Given the description of an element on the screen output the (x, y) to click on. 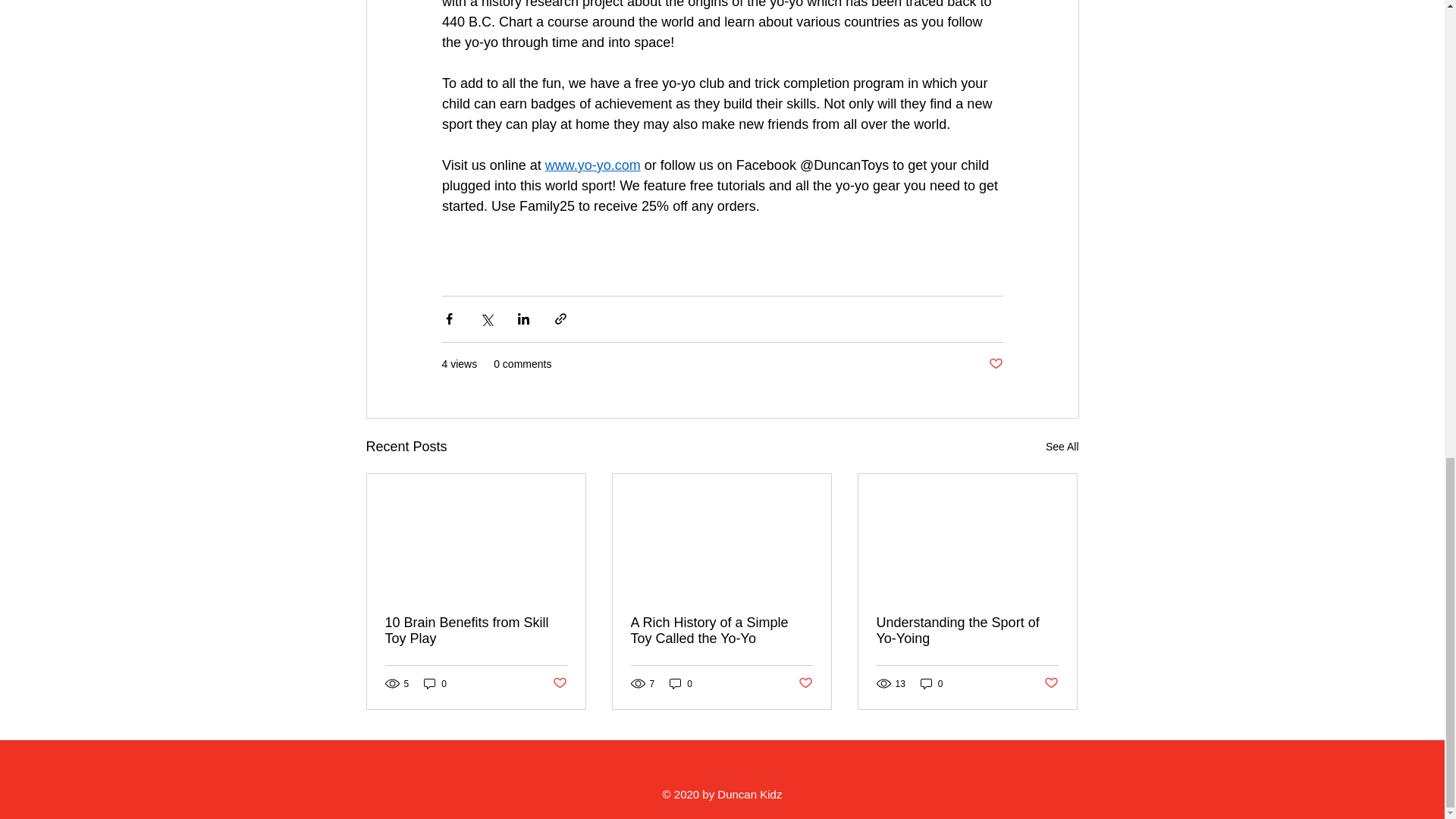
0 (435, 683)
10 Brain Benefits from Skill Toy Play (476, 631)
www.yo-yo.com (592, 165)
See All (1061, 446)
Post not marked as liked (558, 683)
Post not marked as liked (995, 364)
